Given the description of an element on the screen output the (x, y) to click on. 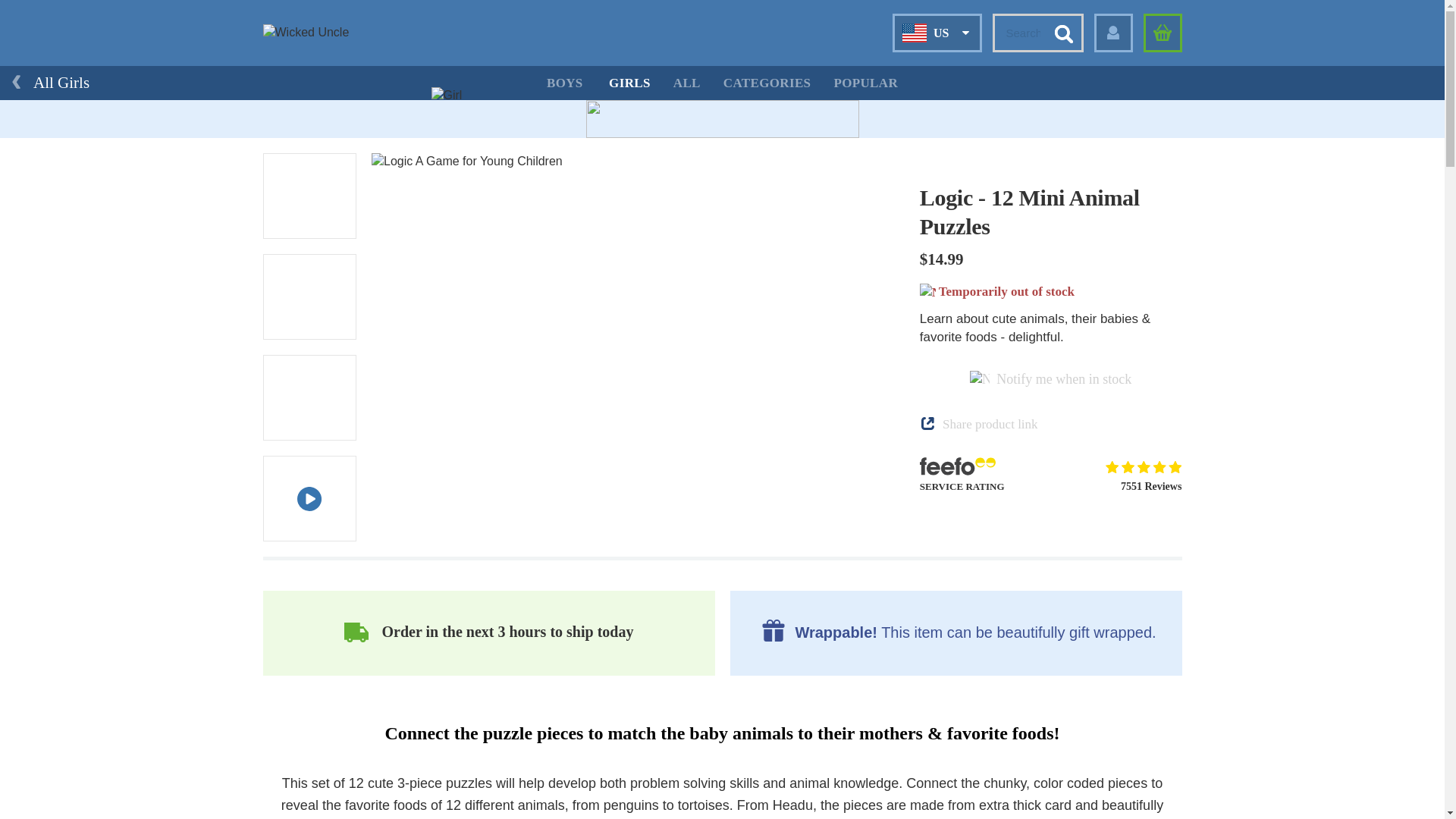
GIRLS (629, 82)
UK (919, 66)
BOYS (564, 82)
